Given the description of an element on the screen output the (x, y) to click on. 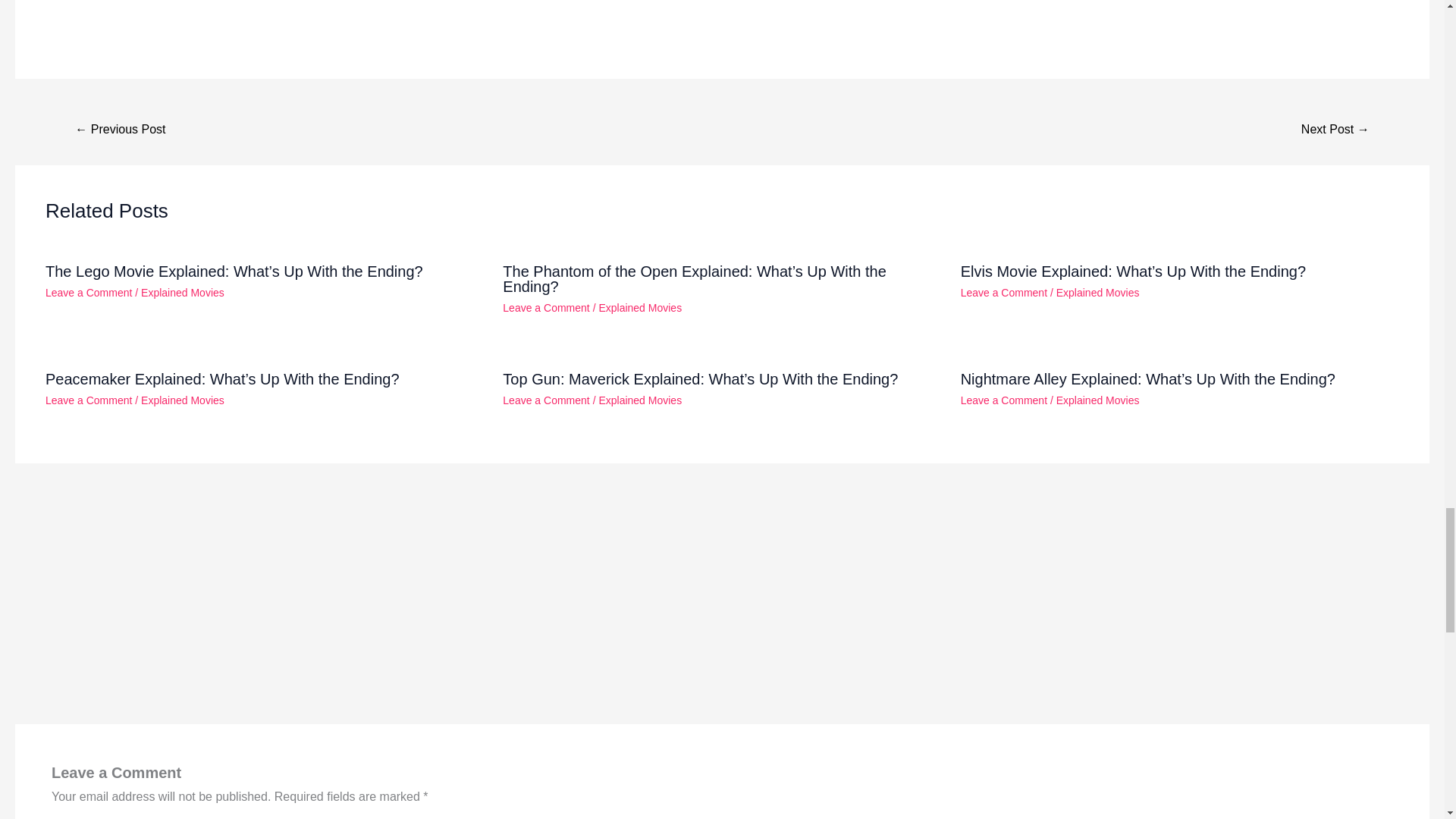
Leave a Comment (1003, 399)
Leave a Comment (545, 307)
Explained Movies (182, 399)
Explained Movies (639, 399)
Explained Movies (1098, 399)
Leave a Comment (88, 292)
Leave a Comment (88, 399)
Leave a Comment (1003, 292)
Leave a Comment (545, 399)
Explained Movies (639, 307)
Explained Movies (1098, 292)
Still Life Explained: What's Up With the Ending? (119, 129)
Explained Movies (182, 292)
